Given the description of an element on the screen output the (x, y) to click on. 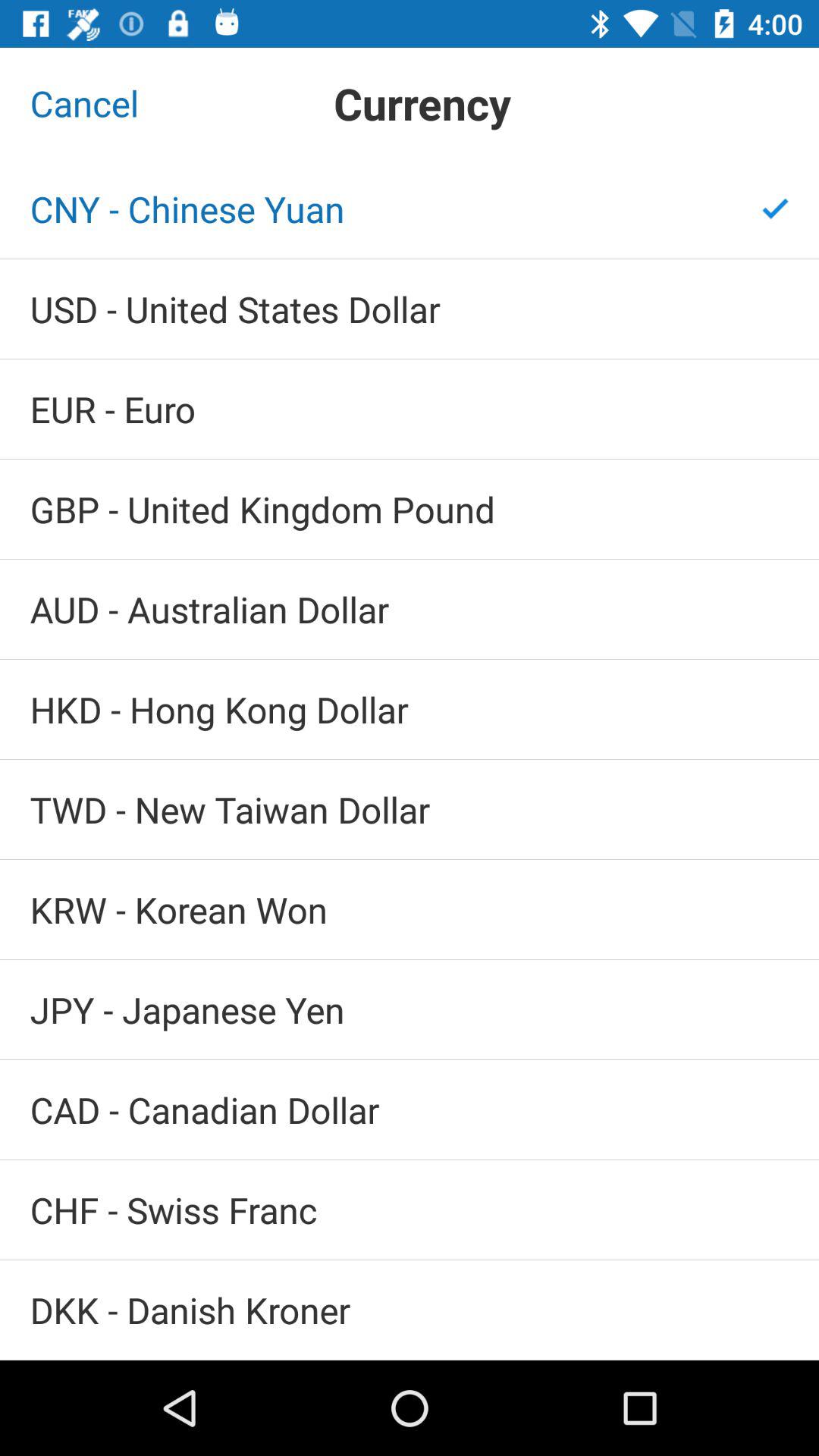
swipe until hkd hong kong item (409, 709)
